Given the description of an element on the screen output the (x, y) to click on. 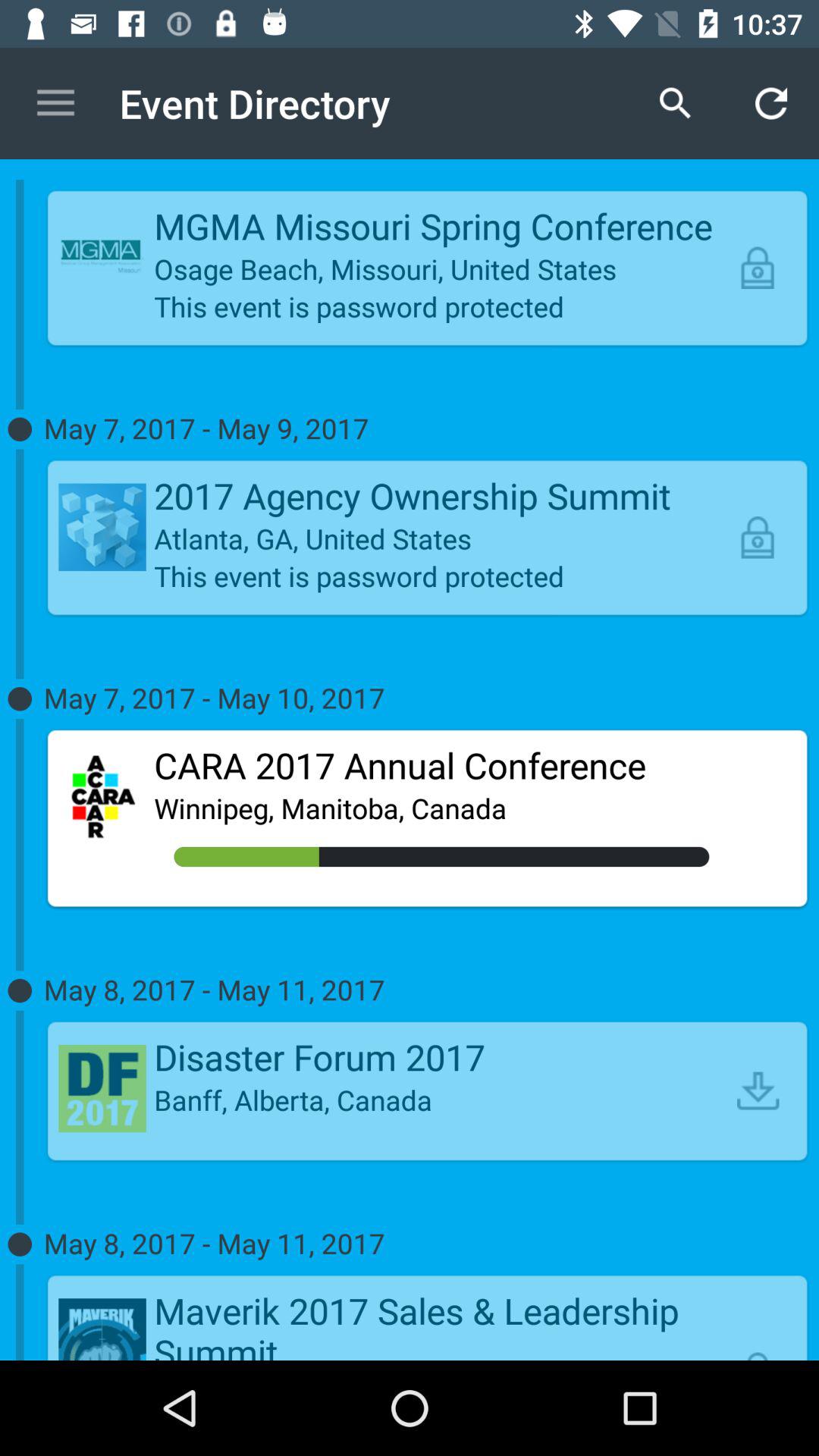
swipe until the maverik 2017 sales icon (441, 1323)
